Given the description of an element on the screen output the (x, y) to click on. 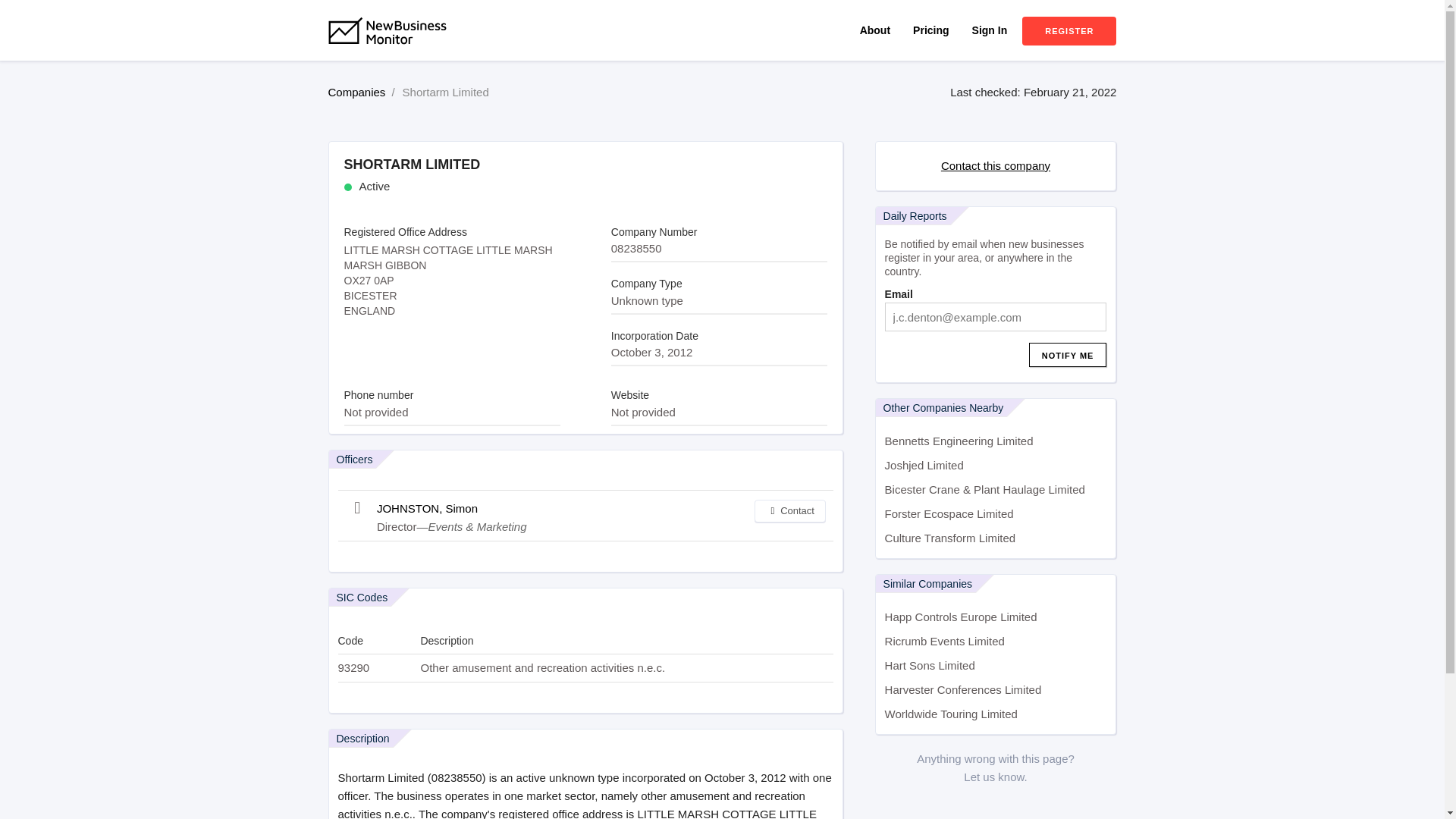
Forster Ecospace Limited (996, 514)
Harvester Conferences Limited (996, 689)
Let us know. (994, 776)
Companies (356, 91)
Contact this company (994, 164)
Culture Transform Limited (996, 538)
Joshjed Limited (996, 465)
Worldwide Touring Limited (996, 713)
NewBusinessMonitor (397, 60)
Pricing (930, 30)
Ricrumb Events Limited (996, 641)
Bennetts Engineering Limited (996, 441)
NOTIFY ME (1067, 354)
Happ Controls Europe Limited (996, 617)
Hart Sons Limited (996, 665)
